Given the description of an element on the screen output the (x, y) to click on. 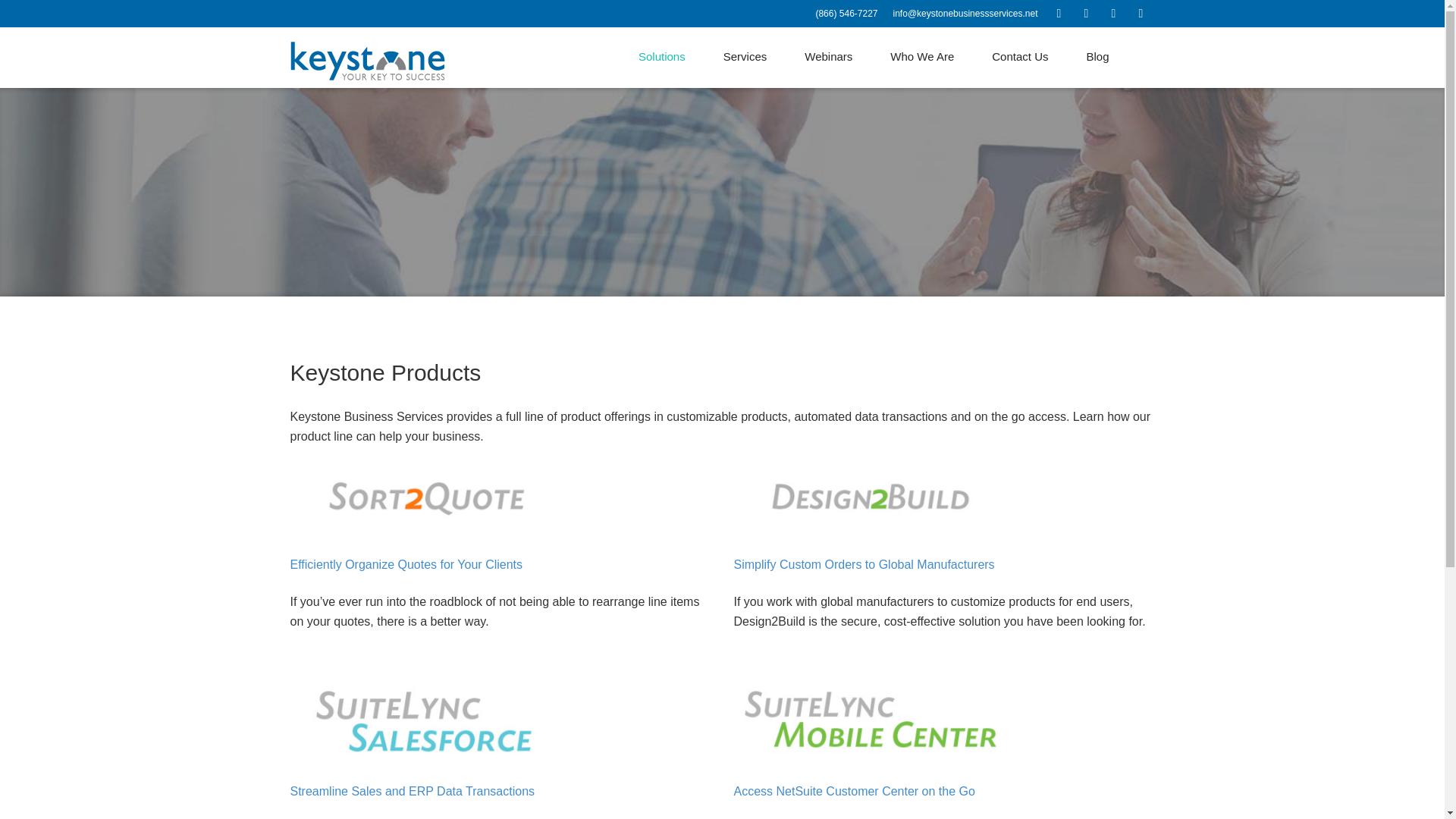
SuiteLync Mobile Center (854, 790)
Design2Build (405, 563)
SuiteLync Salesforce (411, 790)
Design2Build (863, 563)
